Given the description of an element on the screen output the (x, y) to click on. 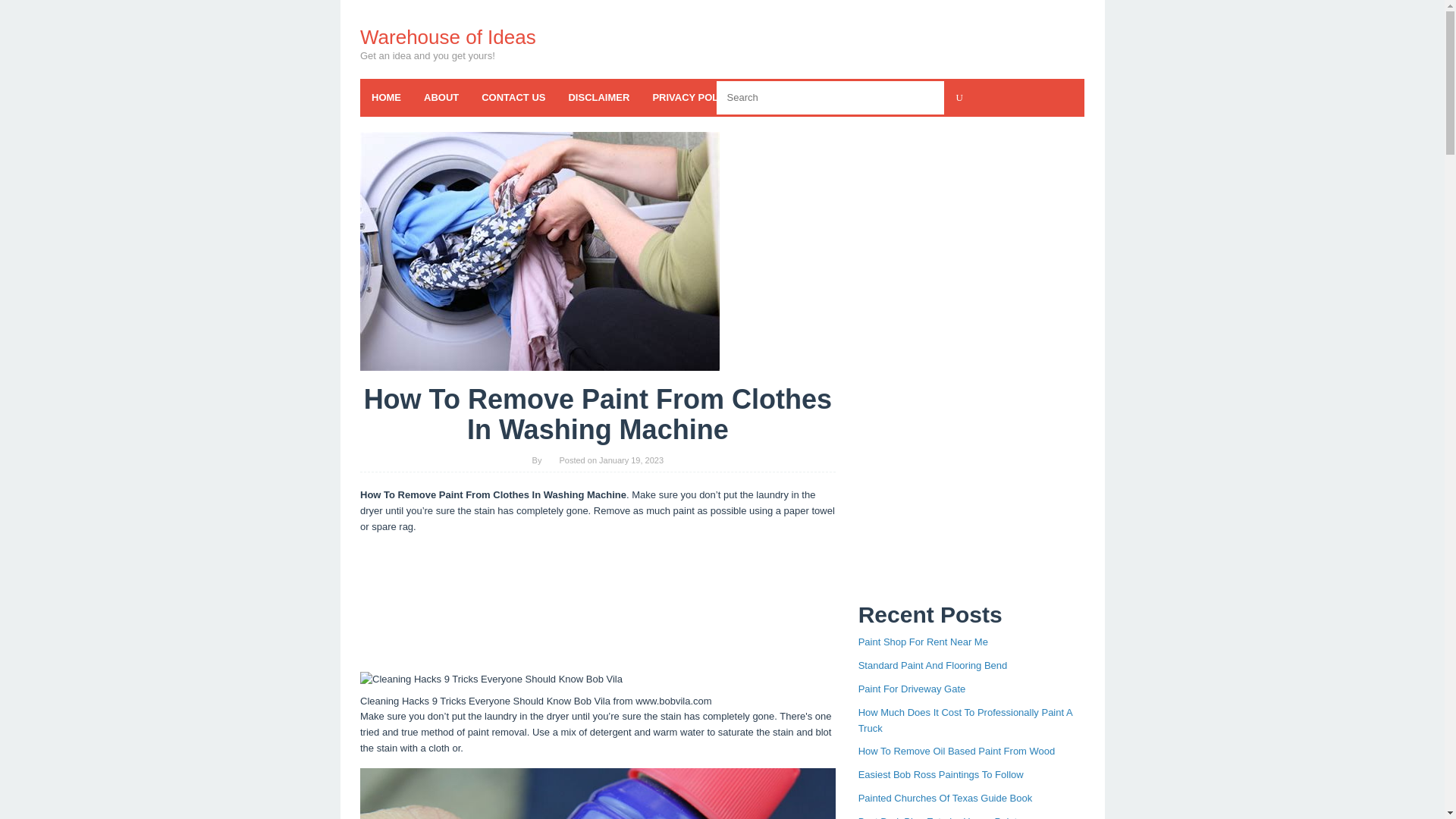
PRIVACY POLICY (692, 97)
ABOUT (441, 97)
CONTACT US (513, 97)
Painted Churches Of Texas Guide Book (945, 797)
HOME (385, 97)
How To Remove Oil Based Paint From Wood (957, 750)
DISCLAIMER (598, 97)
Standard Paint And Flooring Bend (933, 665)
Paint For Driveway Gate (912, 688)
Warehouse of Ideas (447, 36)
SITEMAP (910, 97)
Best Dark Blue Exterior House Paint (938, 817)
How Much Does It Cost To Professionally Paint A Truck (965, 719)
Easiest Bob Ross Paintings To Follow (941, 774)
Paint Shop For Rent Near Me (923, 641)
